Given the description of an element on the screen output the (x, y) to click on. 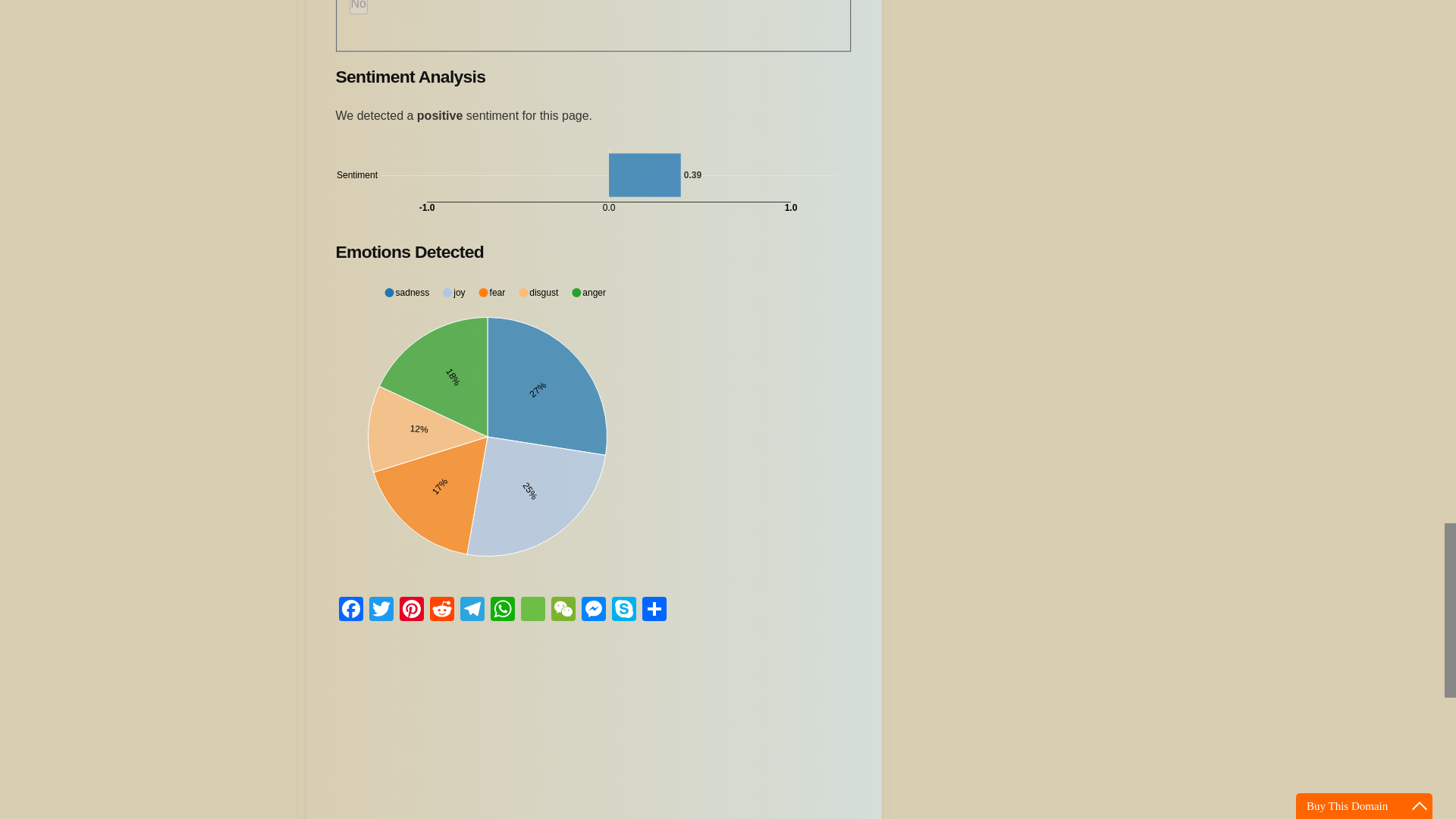
Reddit (441, 610)
WeChat (562, 610)
Skype (623, 610)
Reddit (441, 610)
Message (531, 610)
Twitter (380, 610)
Facebook (349, 610)
Telegram (471, 610)
No (357, 7)
Messenger (593, 610)
Pinterest (411, 610)
Pinterest (411, 610)
Telegram (471, 610)
WhatsApp (501, 610)
Twitter (380, 610)
